Given the description of an element on the screen output the (x, y) to click on. 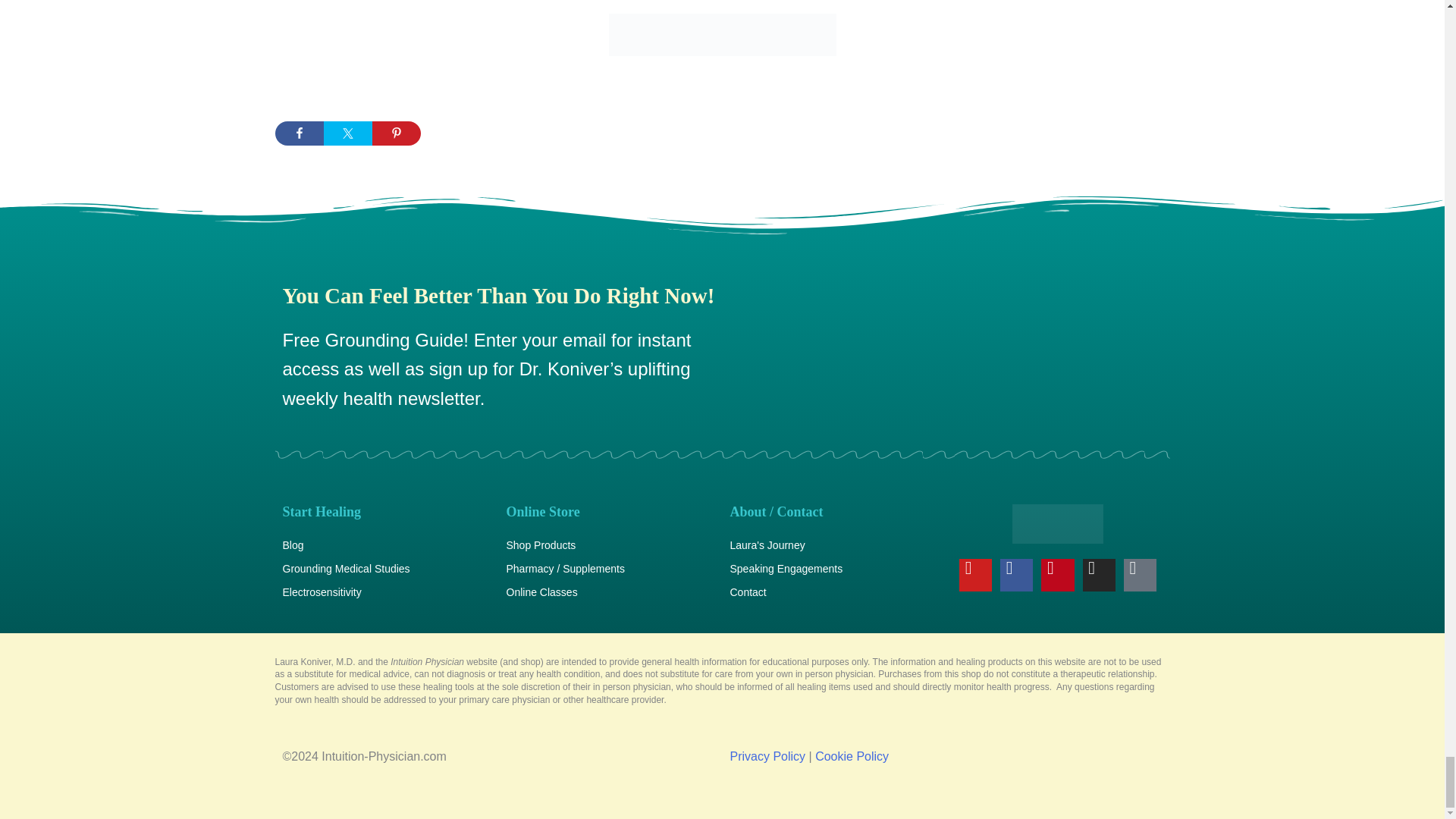
Share on Pinterest (395, 133)
Share on Twitter (347, 133)
Share on Facebook (299, 133)
